Given the description of an element on the screen output the (x, y) to click on. 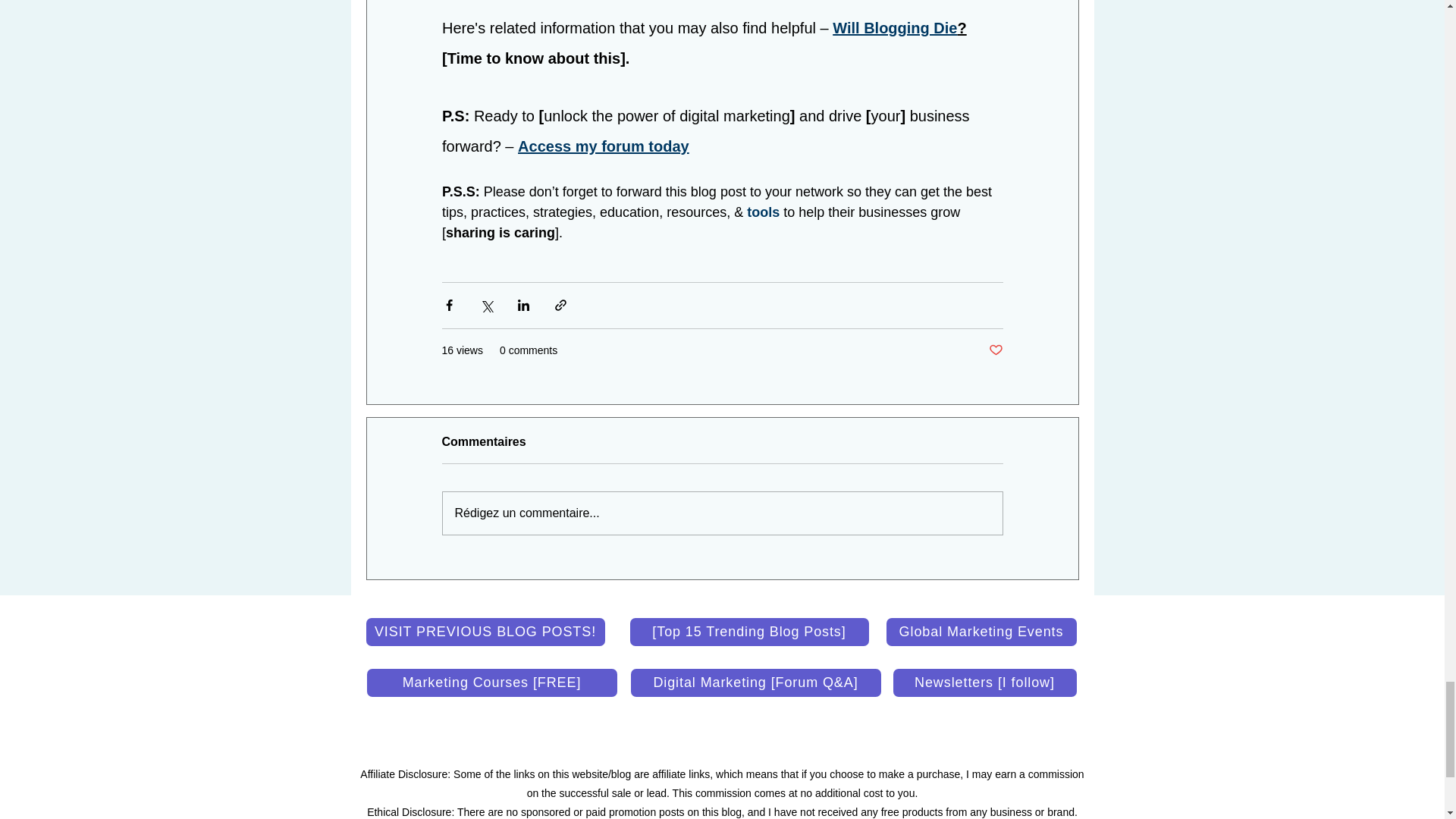
Will Blogging Die (894, 29)
